Given the description of an element on the screen output the (x, y) to click on. 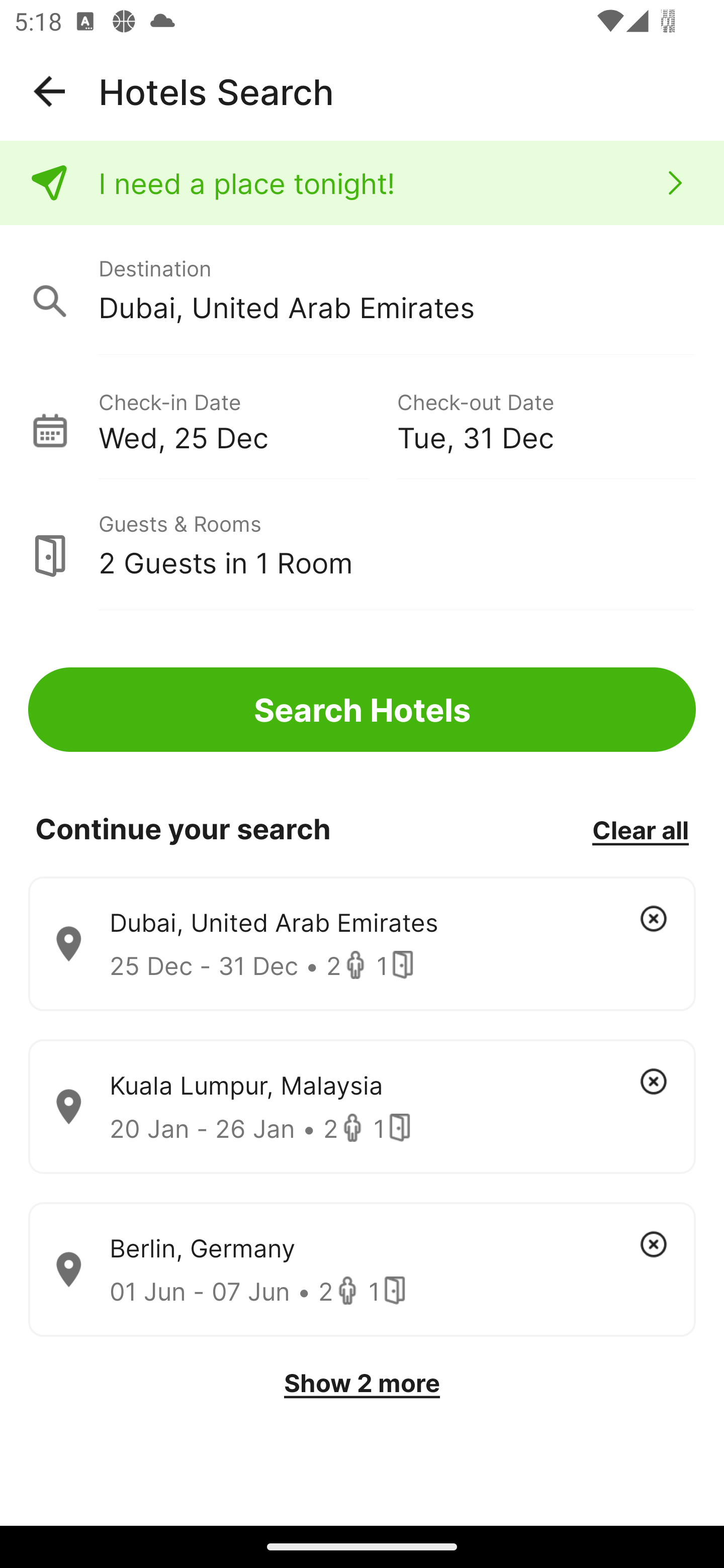
I need a place tonight! (362, 183)
Destination Dubai, United Arab Emirates (362, 290)
Check-in Date Wed, 25 Dec (247, 418)
Check-out Date Tue, 31 Dec (546, 418)
Guests & Rooms 2 Guests in 1 Room (362, 545)
Search Hotels (361, 709)
Clear all (640, 829)
Kuala Lumpur, Malaysia 20 Jan - 26 Jan • 2  1  (361, 1106)
Berlin, Germany 01 Jun - 07 Jun • 2  1  (361, 1269)
Show 2 more (362, 1382)
